Given the description of an element on the screen output the (x, y) to click on. 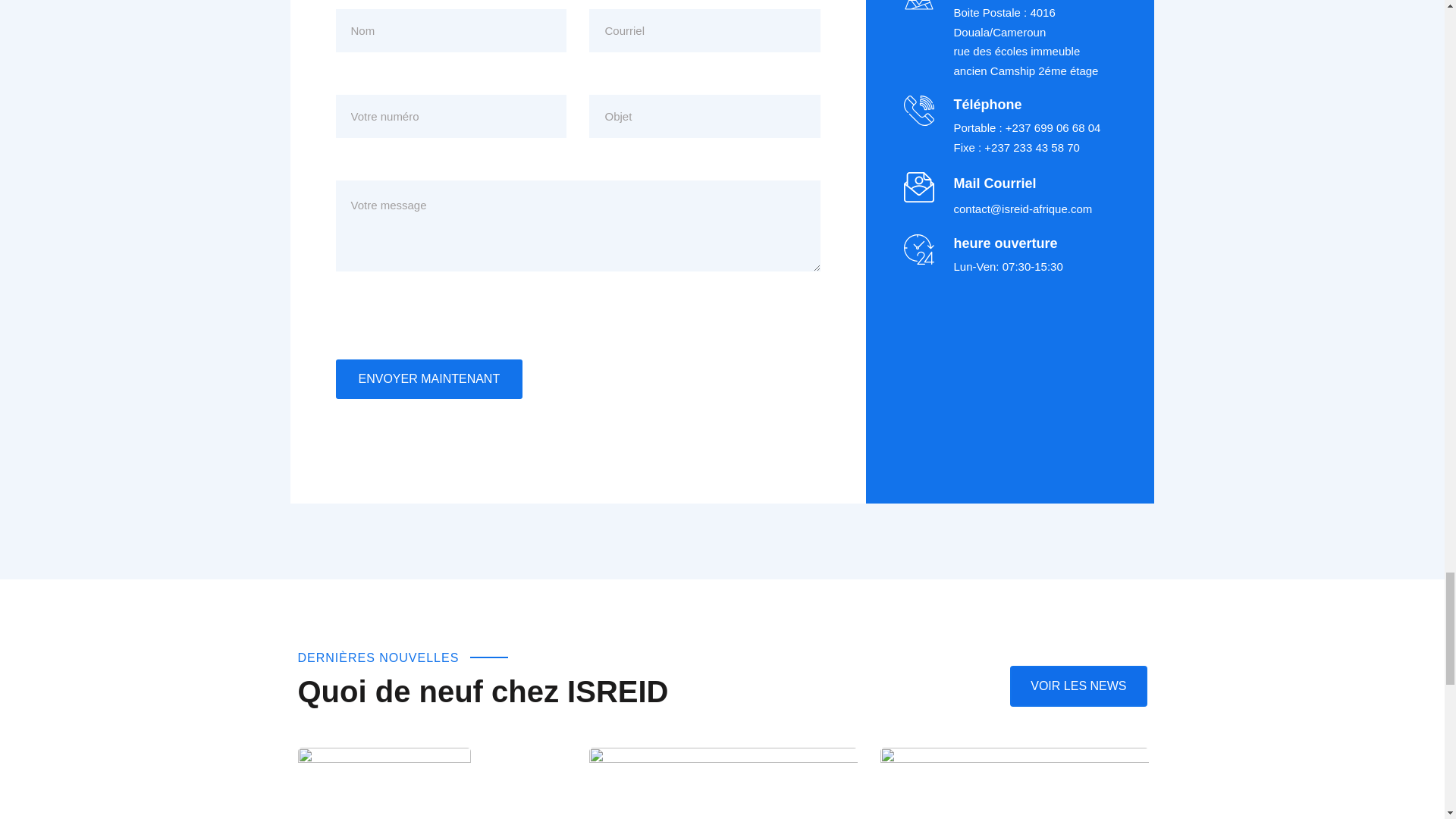
Envoyer maintenant (428, 378)
